Given the description of an element on the screen output the (x, y) to click on. 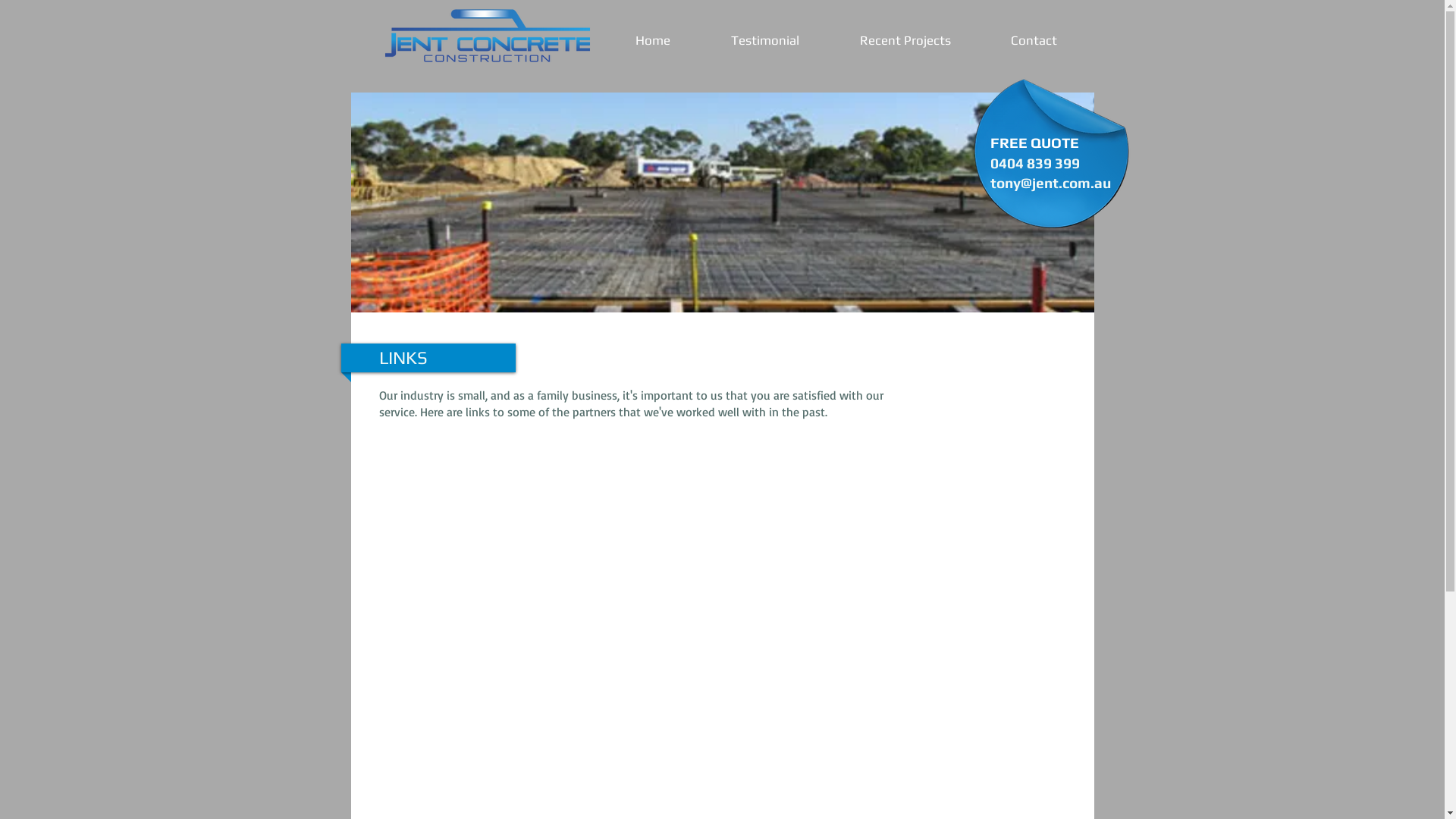
tony@jent.com.au Element type: text (1050, 182)
Recent Projects Element type: text (905, 39)
Testimonial Element type: text (764, 39)
Contact Element type: text (1034, 39)
Jent Concrete Construction Sydney Element type: hover (486, 35)
Home Element type: text (652, 39)
